Given the description of an element on the screen output the (x, y) to click on. 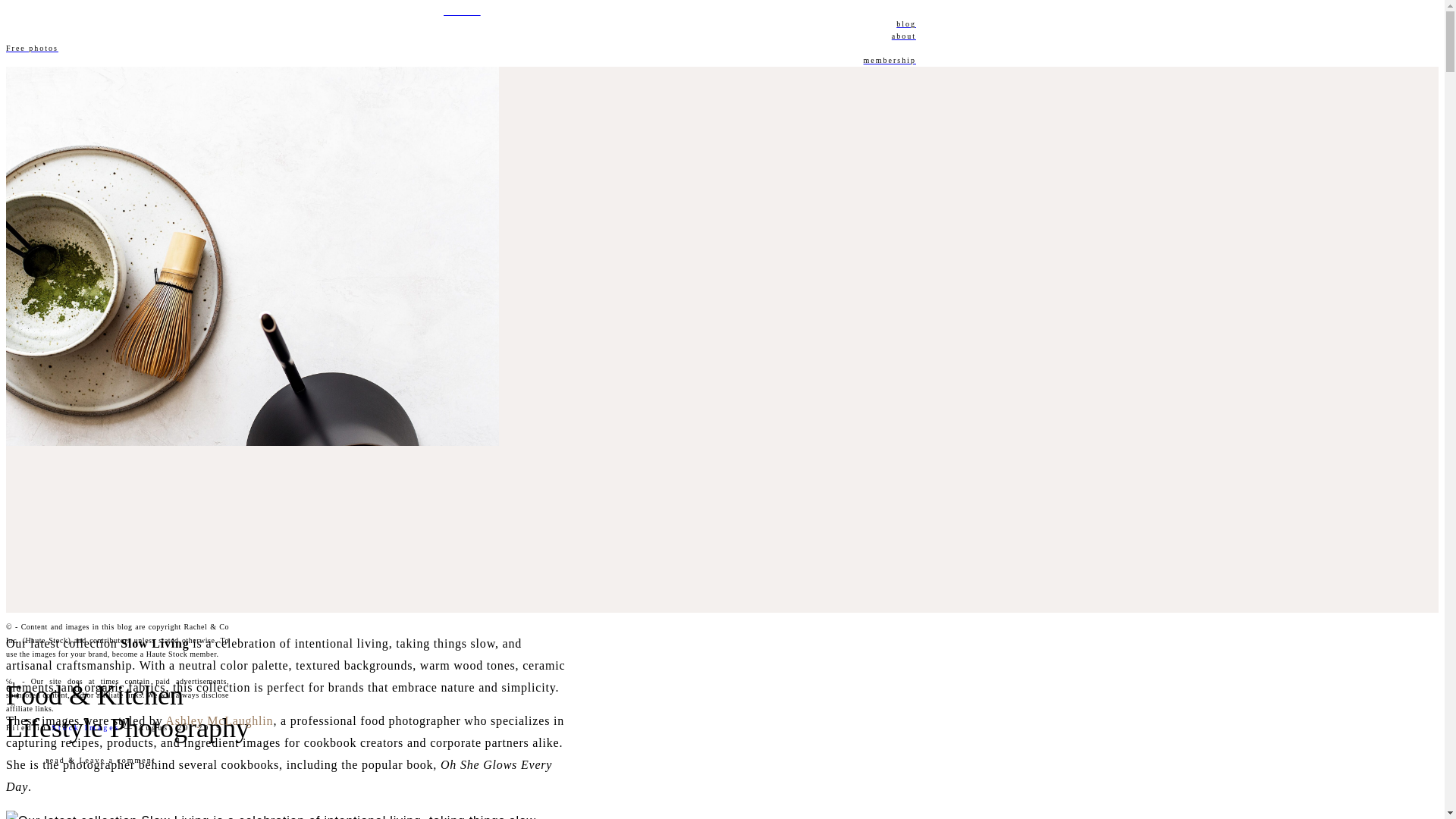
about (460, 36)
member login (460, 72)
membership (460, 60)
blog (460, 24)
Ashley McLaughlin (219, 720)
Free photos (460, 48)
Stock Images (84, 727)
join now (460, 11)
